Given the description of an element on the screen output the (x, y) to click on. 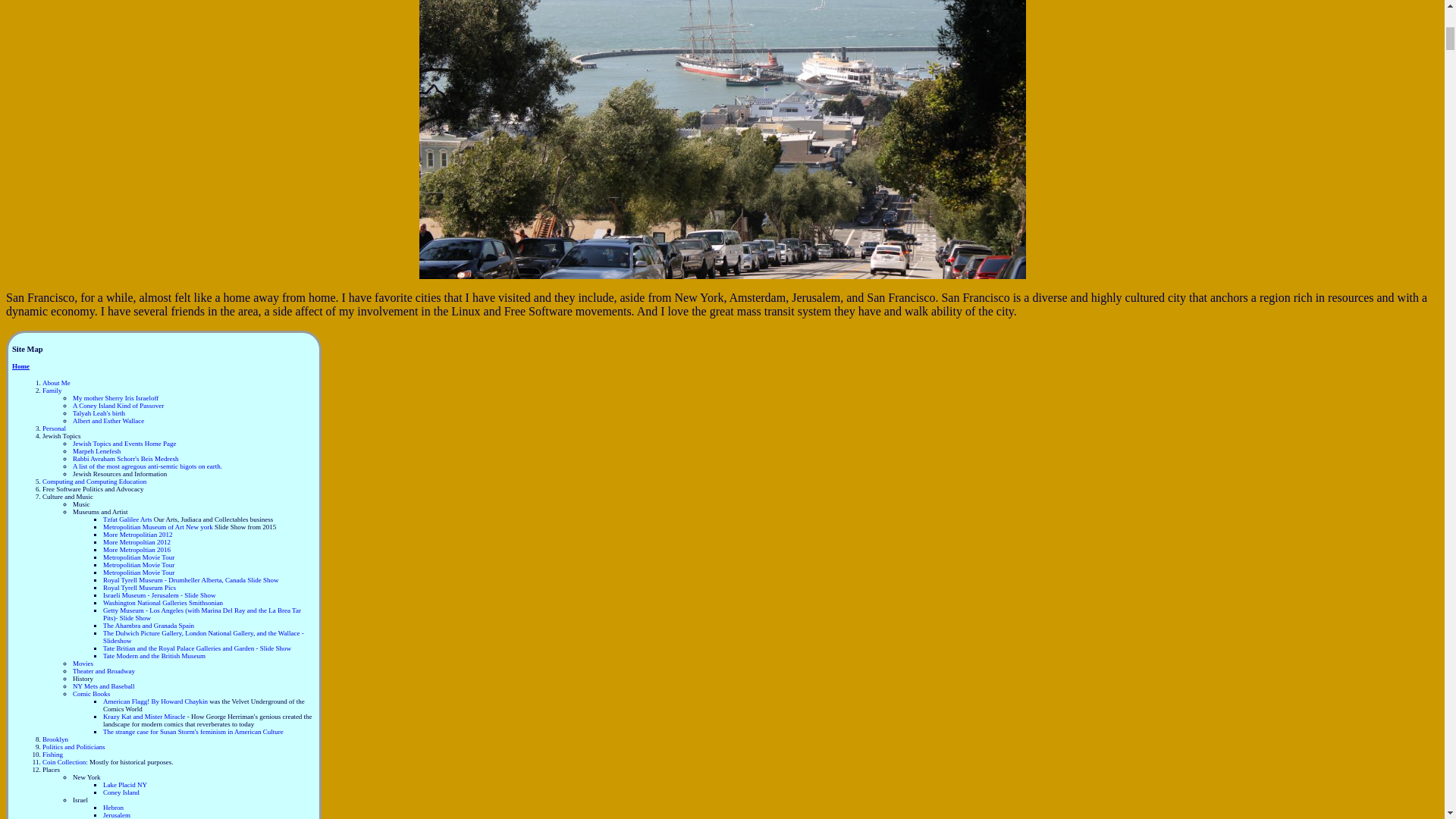
Israeli Museum - Jerusalem - Slide Show (159, 594)
Royal Tyrell Museum - Drumheller Alberta, Canada Slide Show (190, 579)
Albert and Esther Wallace (108, 420)
Washington National Galleries Smithsonian (162, 602)
Tzfat Galilee Arts (128, 519)
American Flagg! By Howard Chaykin (155, 701)
A list of the most agregous anti-semtic bigots on earth. (147, 466)
More Metropolitian 2012 (138, 534)
Metropolitian Movie Tour (138, 557)
